Given the description of an element on the screen output the (x, y) to click on. 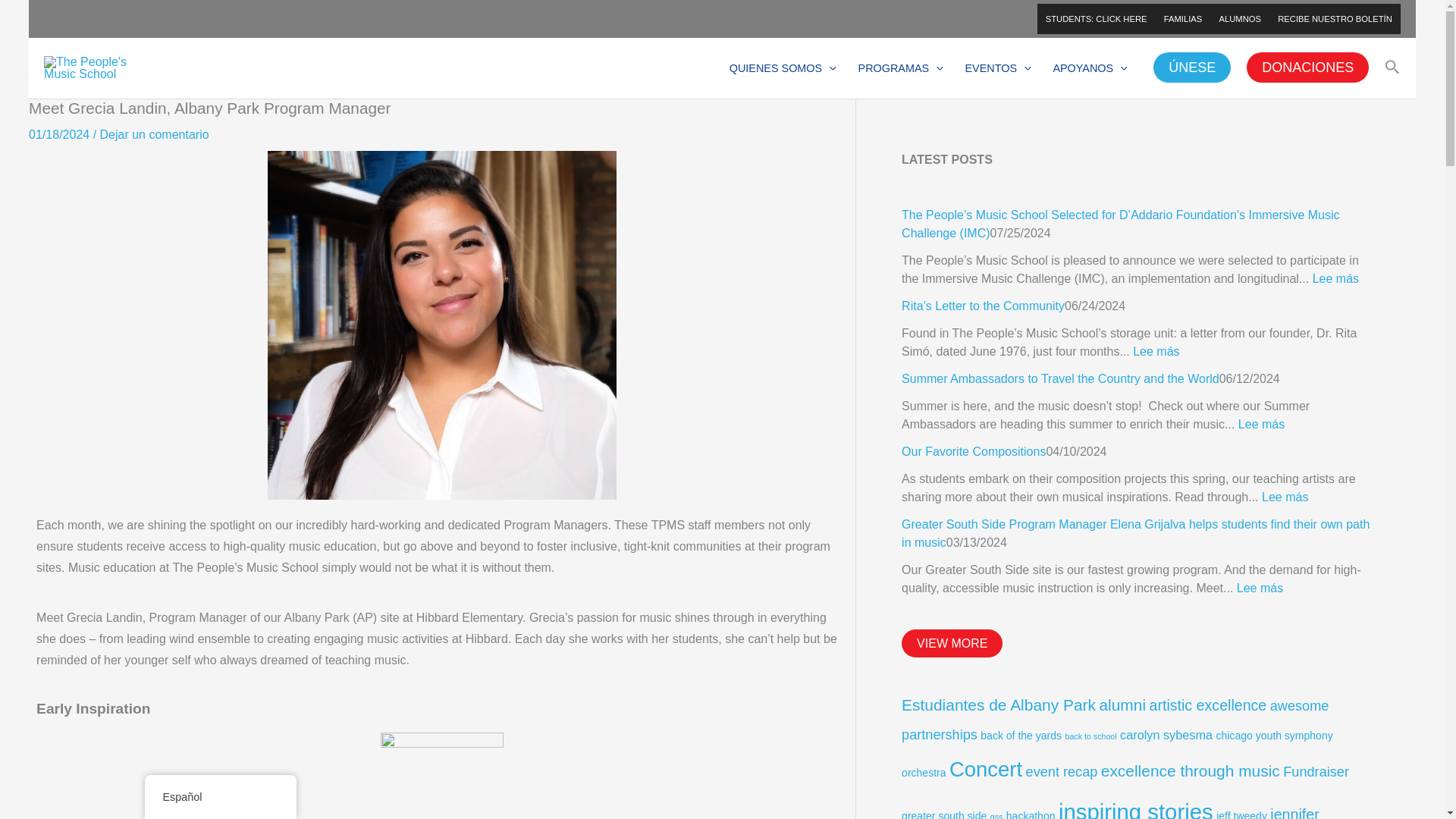
EVENTOS (997, 67)
QUIENES SOMOS (782, 67)
APOYANOS (1090, 67)
STUDENTS: CLICK HERE (1096, 19)
ALUMNOS (1239, 19)
PROGRAMAS (900, 67)
FAMILIAS (1183, 19)
